Given the description of an element on the screen output the (x, y) to click on. 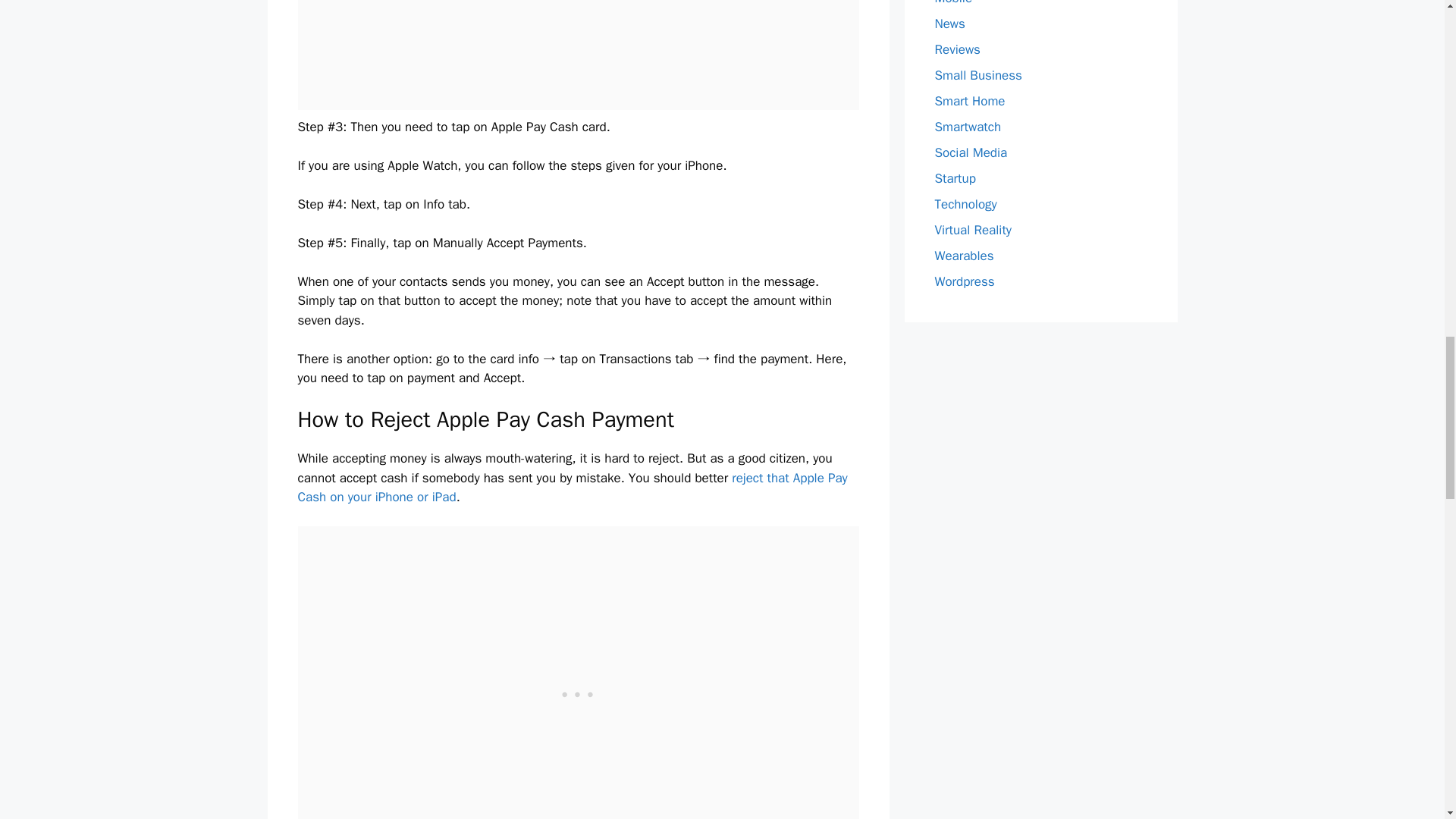
reject that Apple Pay Cash on your iPhone or iPad (572, 488)
